Given the description of an element on the screen output the (x, y) to click on. 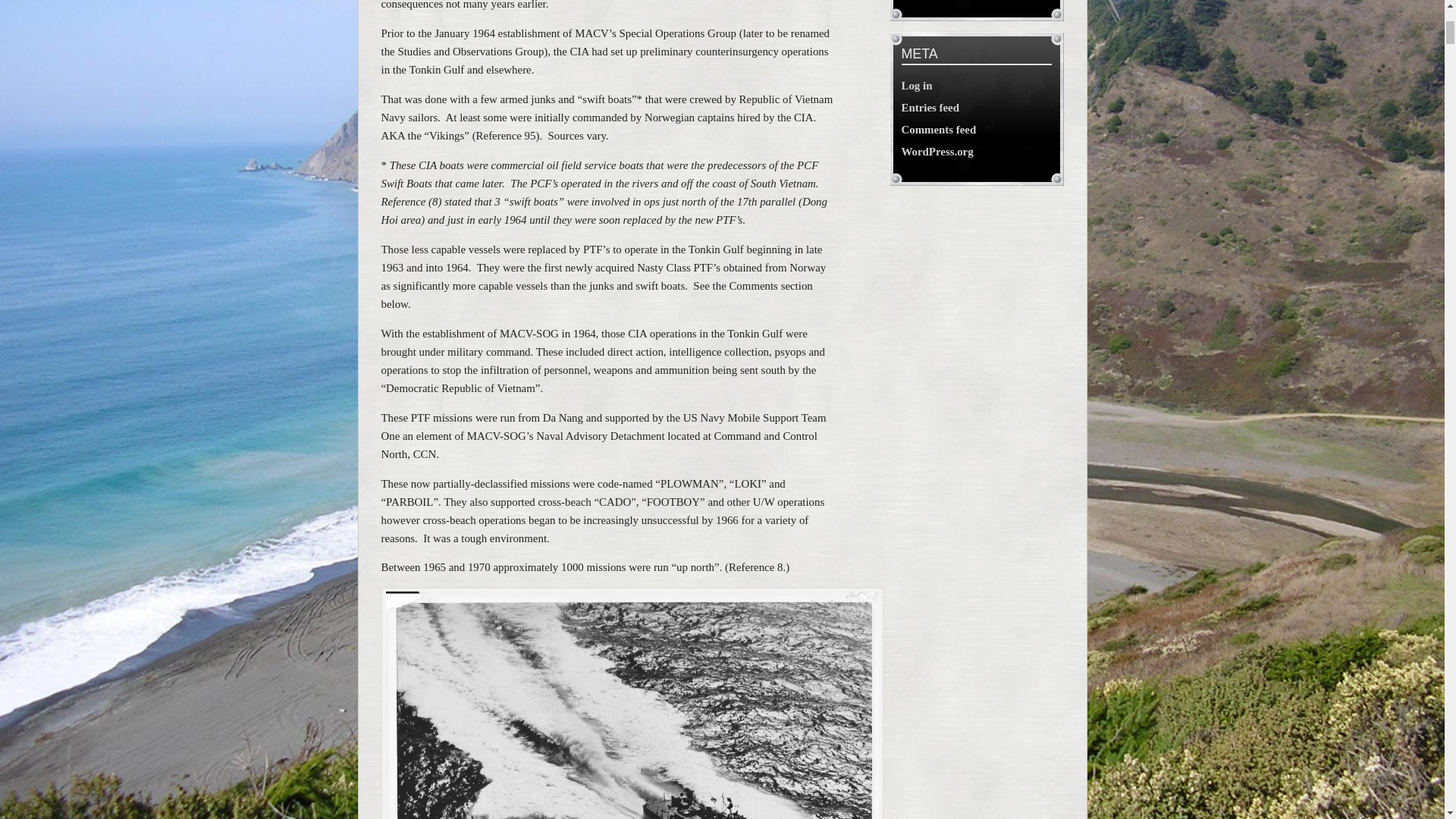
Nasty with a pair of 40mm gun mounts (631, 705)
